Given the description of an element on the screen output the (x, y) to click on. 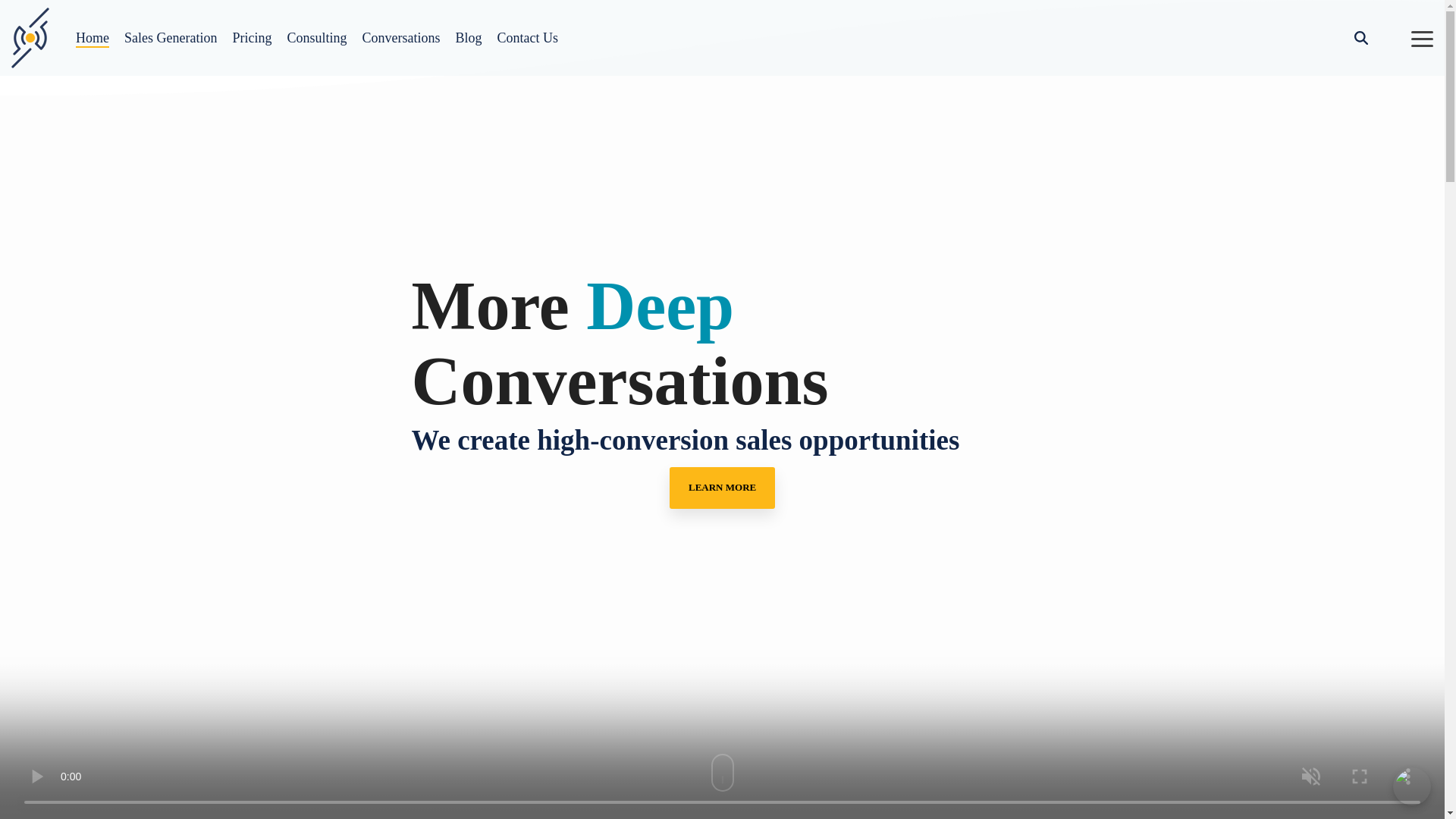
Contact Us (528, 37)
Consulting (316, 37)
Pricing (250, 37)
LEARN MORE (721, 487)
Norfolk Vortex Logo (30, 37)
Toggle Menu (1421, 38)
Home (92, 37)
Conversations (400, 37)
Blog (467, 37)
Sales Generation (169, 37)
